Given the description of an element on the screen output the (x, y) to click on. 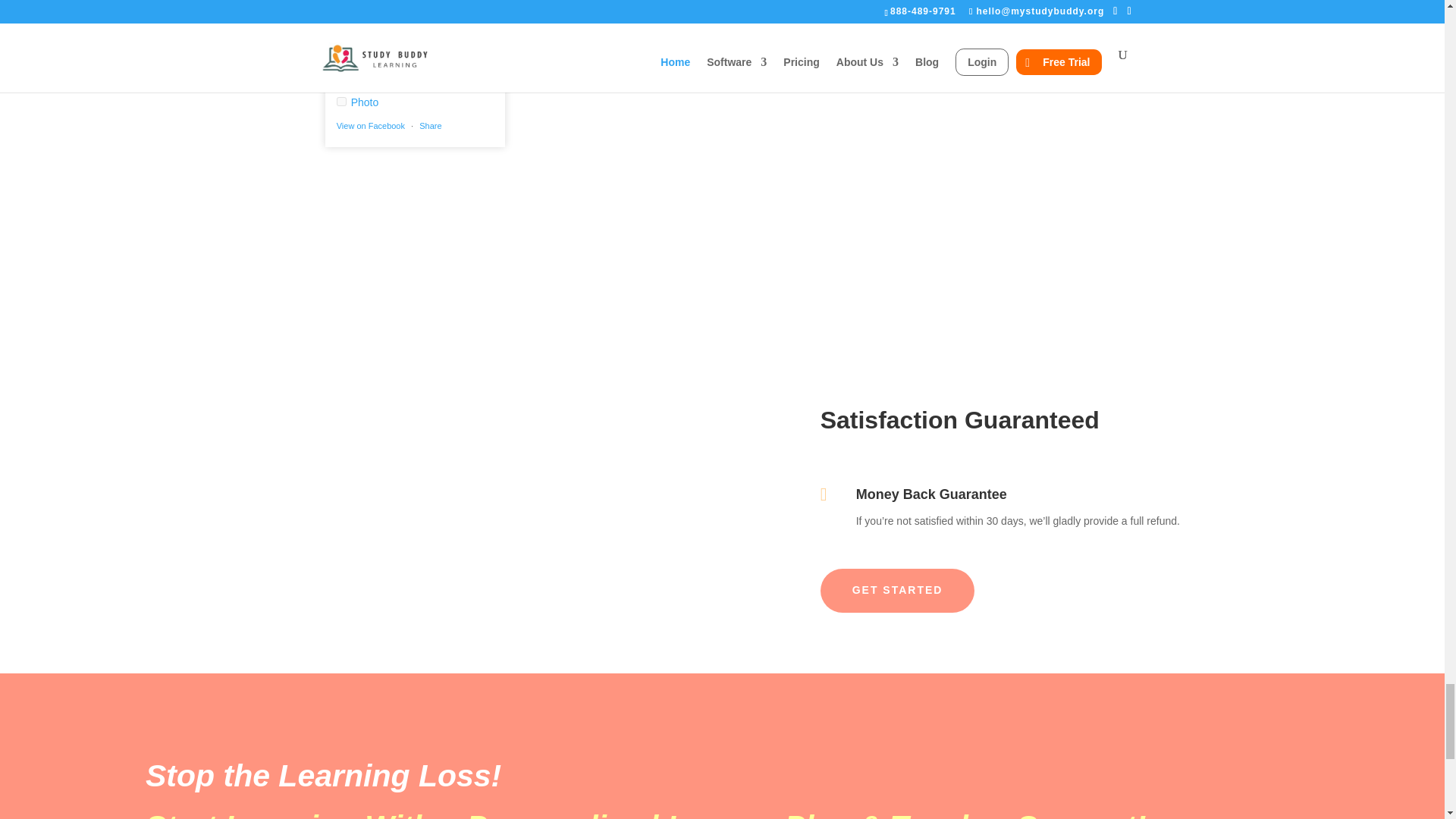
Share (430, 125)
View on Facebook (370, 125)
